Given the description of an element on the screen output the (x, y) to click on. 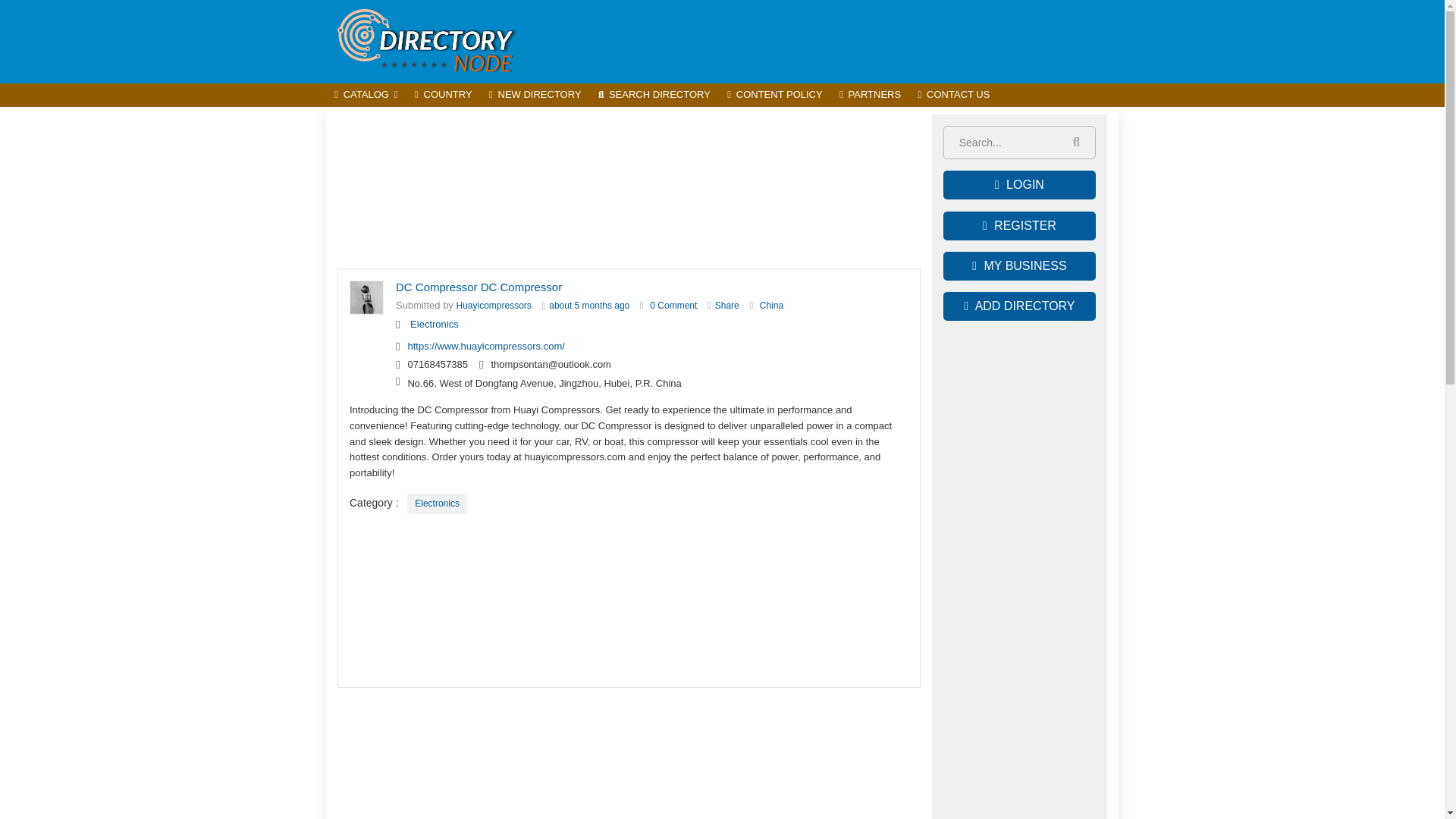
Electronics (437, 503)
Share (726, 305)
Share (726, 305)
Electronics (434, 324)
DC compressor    DC compressor (673, 305)
Electronics (437, 503)
China (771, 305)
about 5 months ago (588, 305)
Electronics (434, 324)
China (771, 305)
ADD DIRECTORY (1019, 306)
0 Comment (673, 305)
LOGIN (1019, 184)
SEARCH DIRECTORY (654, 95)
COUNTRY (443, 95)
